Given the description of an element on the screen output the (x, y) to click on. 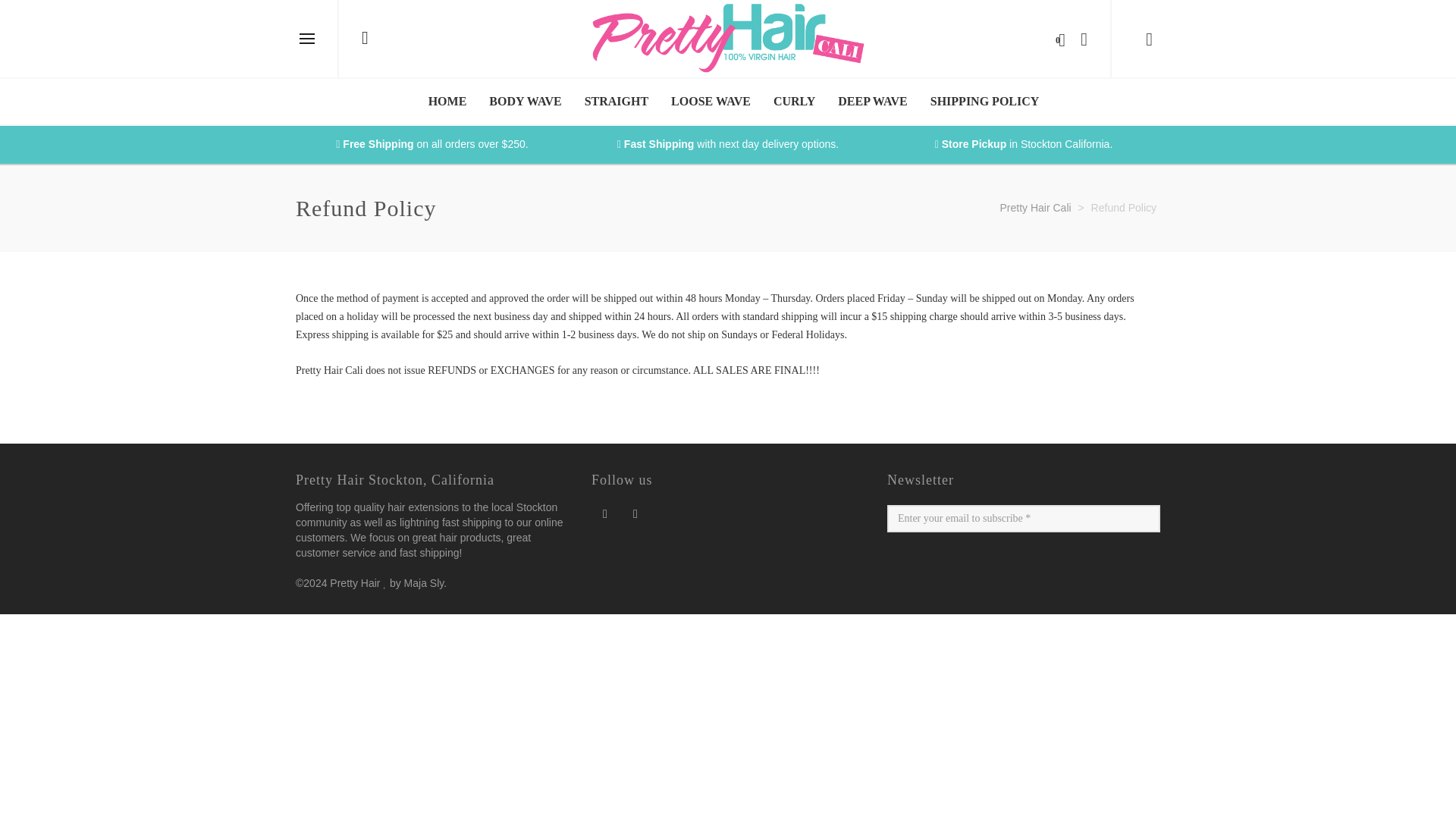
Menu (306, 39)
BODY WAVE (524, 101)
0 (1054, 38)
LOOSE WAVE (710, 101)
Go to Pretty Hair Cali. (1034, 207)
View your wishlist (1079, 38)
STRAIGHT (616, 101)
View your shopping cart (1054, 38)
HOME (447, 101)
